Given the description of an element on the screen output the (x, y) to click on. 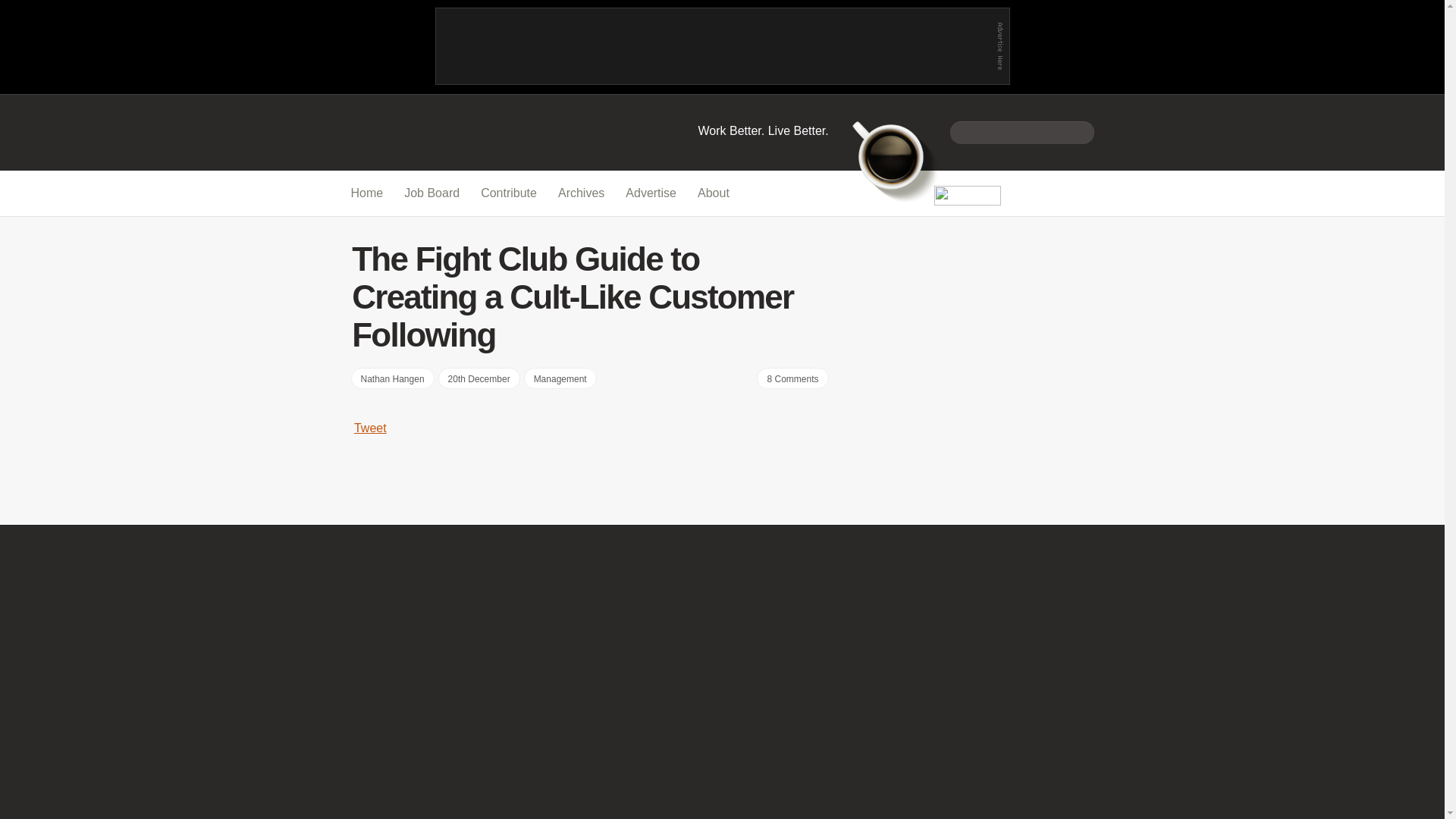
Advertise (651, 192)
Posts by Nathan Hangen (391, 378)
Management (560, 378)
About (713, 192)
Rss Updates (1082, 192)
Email Updates (1058, 192)
Twitter Updates (1032, 192)
Work Awesome (762, 130)
Archives (580, 192)
Search (1079, 131)
